Given the description of an element on the screen output the (x, y) to click on. 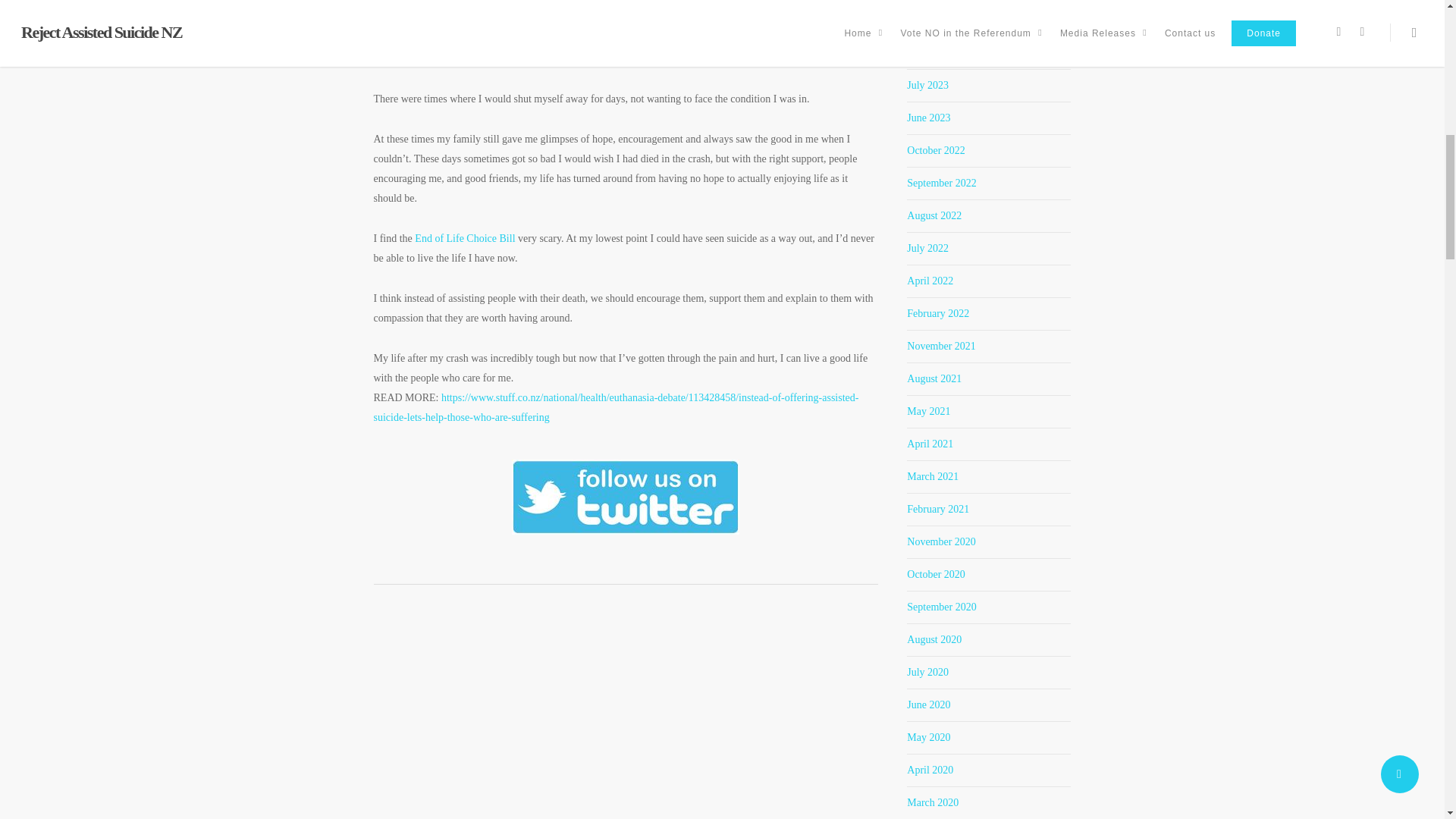
July 2023 (928, 84)
October 2023 (936, 19)
June 2023 (928, 117)
End of Life Choice Bill (464, 238)
August 2023 (933, 52)
